Given the description of an element on the screen output the (x, y) to click on. 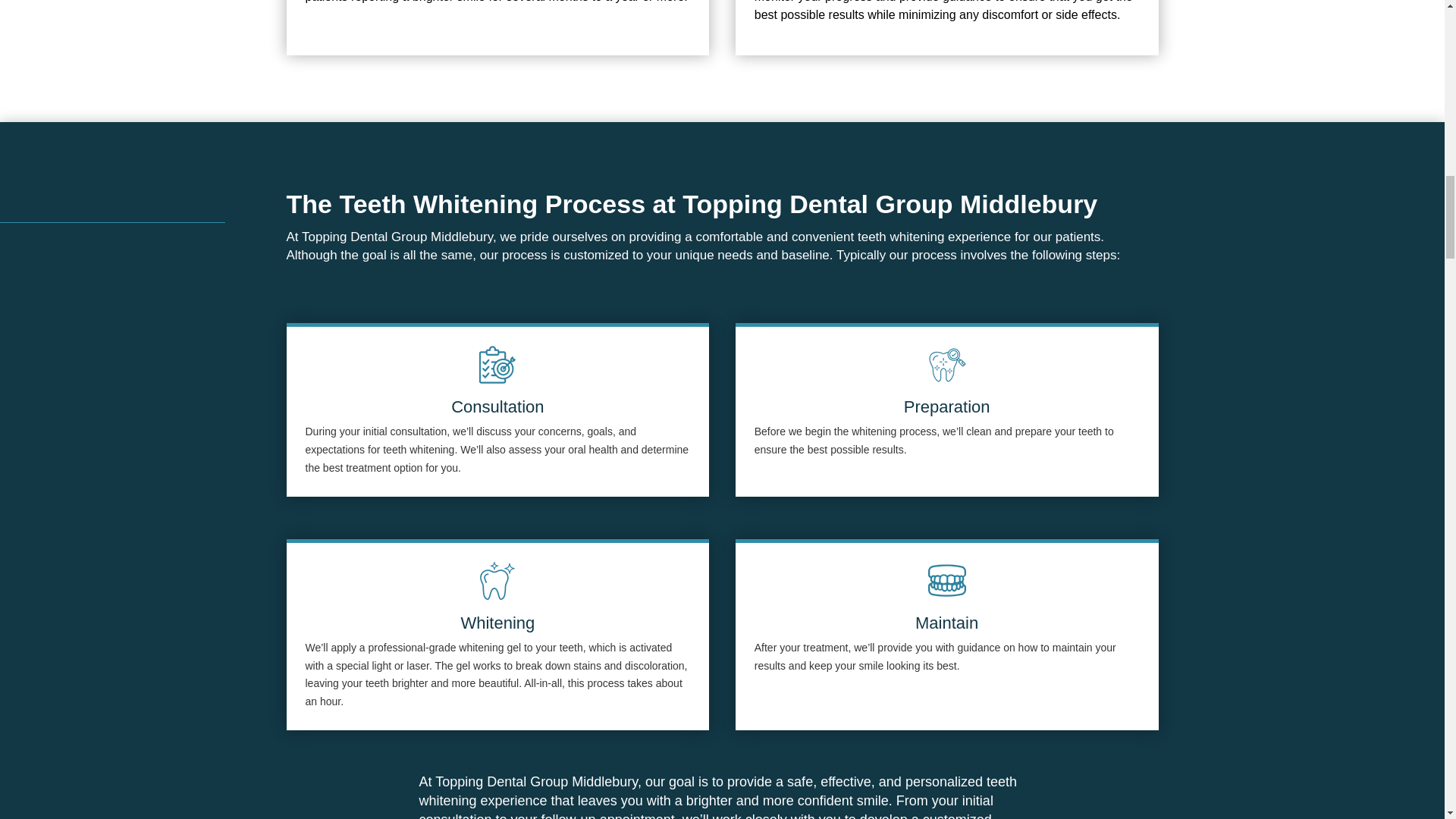
Teeth Smile (947, 580)
Teeth Whitening 3 (497, 580)
Plan Your Visit to Topping (497, 364)
Teeth Inspection (947, 364)
